Given the description of an element on the screen output the (x, y) to click on. 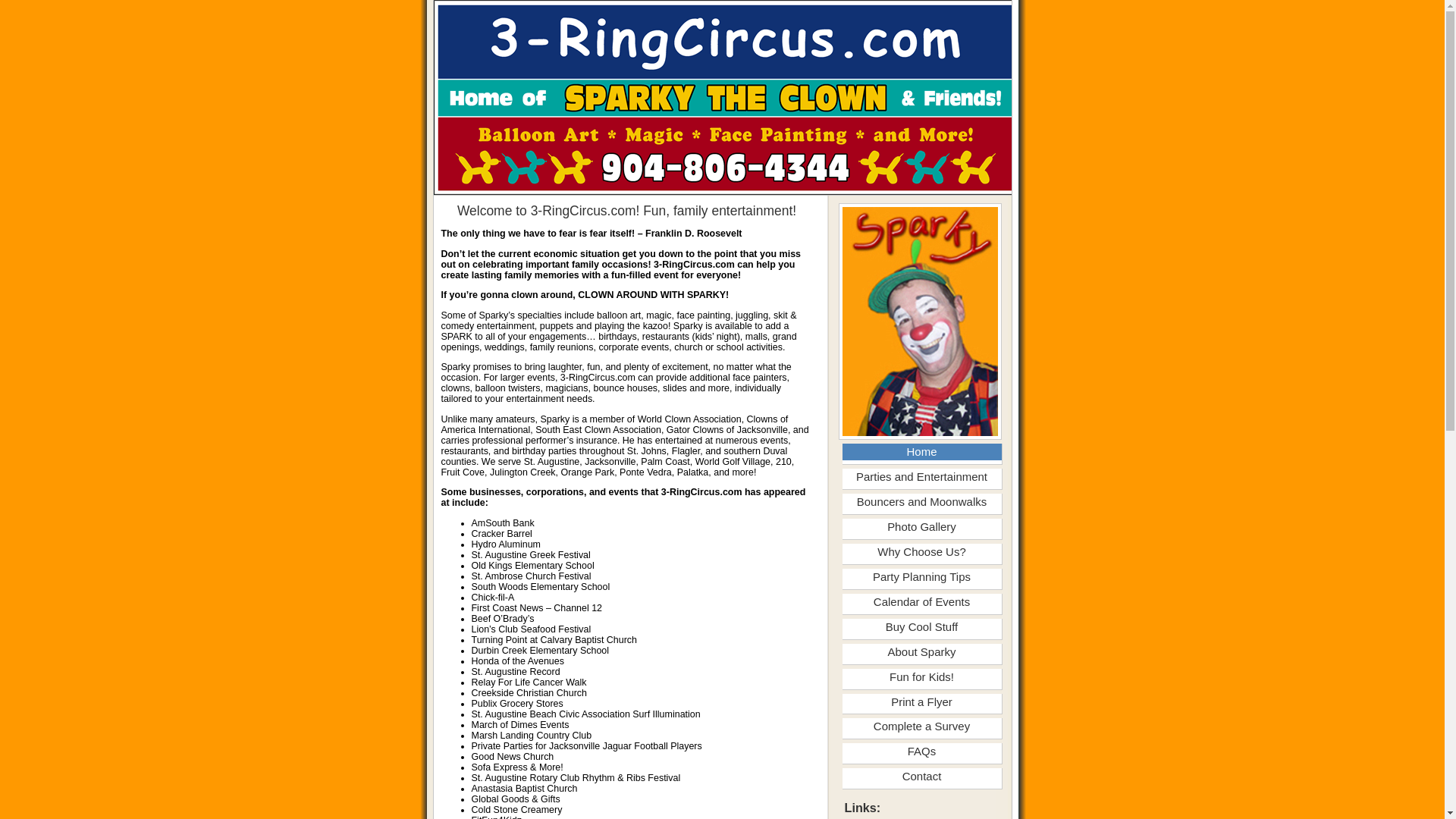
Home Element type: text (921, 451)
Bouncers and Moonwalks Element type: text (921, 501)
Calendar of Events Element type: text (921, 601)
About Sparky Element type: text (921, 651)
Why Choose Us? Element type: text (921, 551)
Fun for Kids! Element type: text (921, 676)
Buy Cool Stuff Element type: text (921, 626)
Contact Element type: text (921, 776)
FAQs Element type: text (921, 751)
Parties and Entertainment Element type: text (921, 476)
Photo Gallery Element type: text (921, 526)
Party Planning Tips Element type: text (921, 576)
Complete a Survey Element type: text (921, 726)
Print a Flyer Element type: text (921, 701)
